Given the description of an element on the screen output the (x, y) to click on. 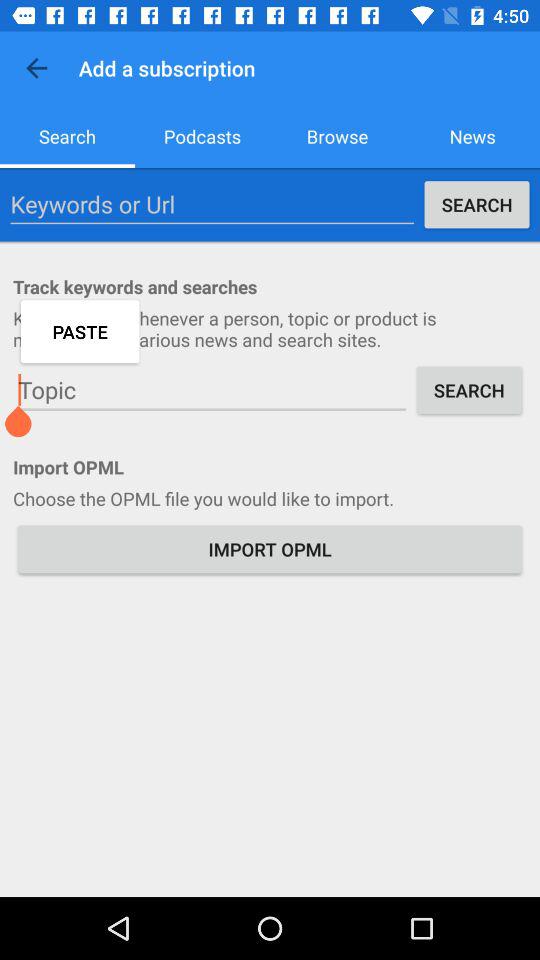
launch the icon above the search (36, 68)
